Given the description of an element on the screen output the (x, y) to click on. 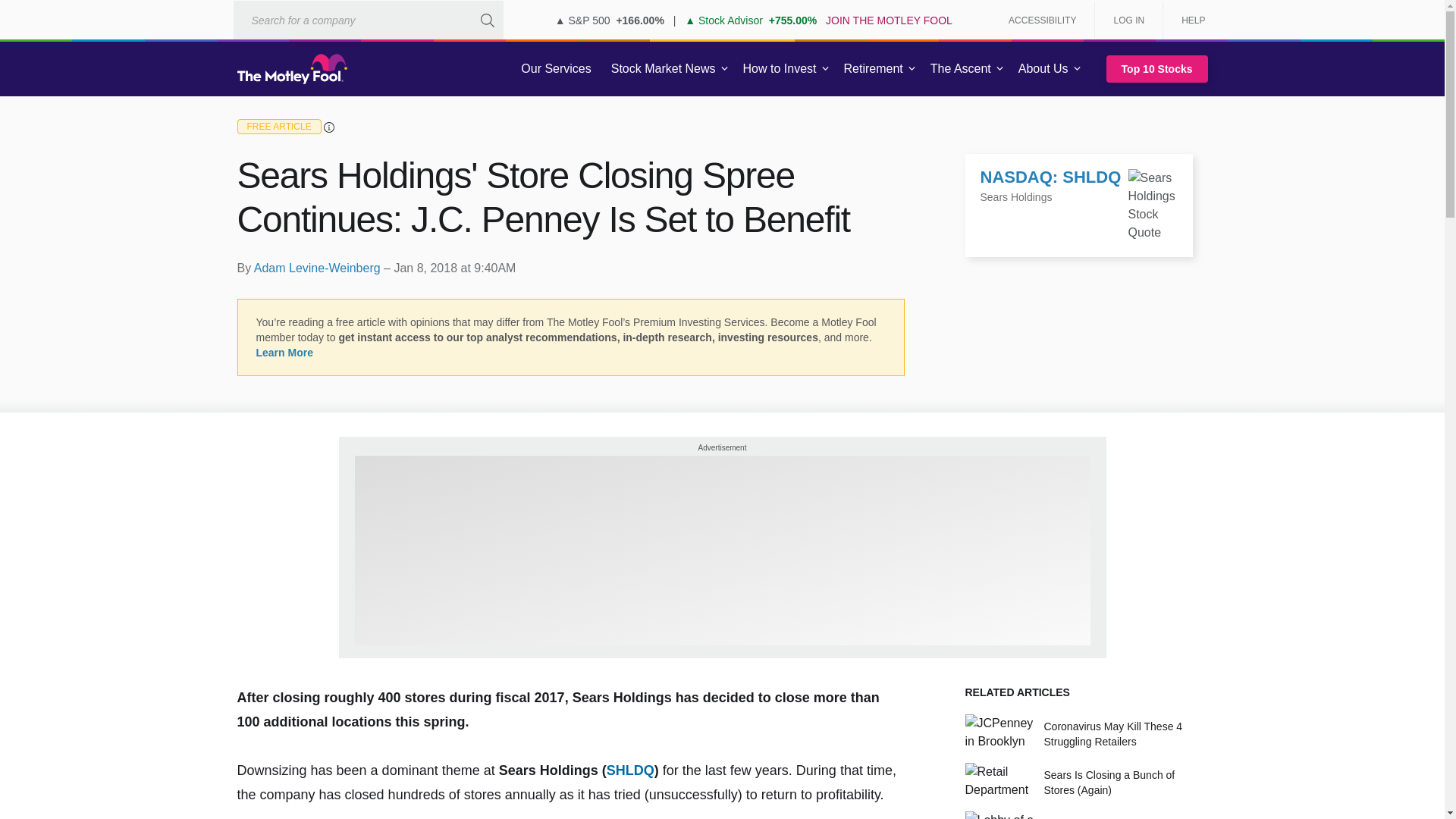
Our Services (555, 68)
Stock Market News (662, 68)
LOG IN (1128, 19)
HELP (1187, 19)
How to Invest (779, 68)
ACCESSIBILITY (1042, 19)
